Given the description of an element on the screen output the (x, y) to click on. 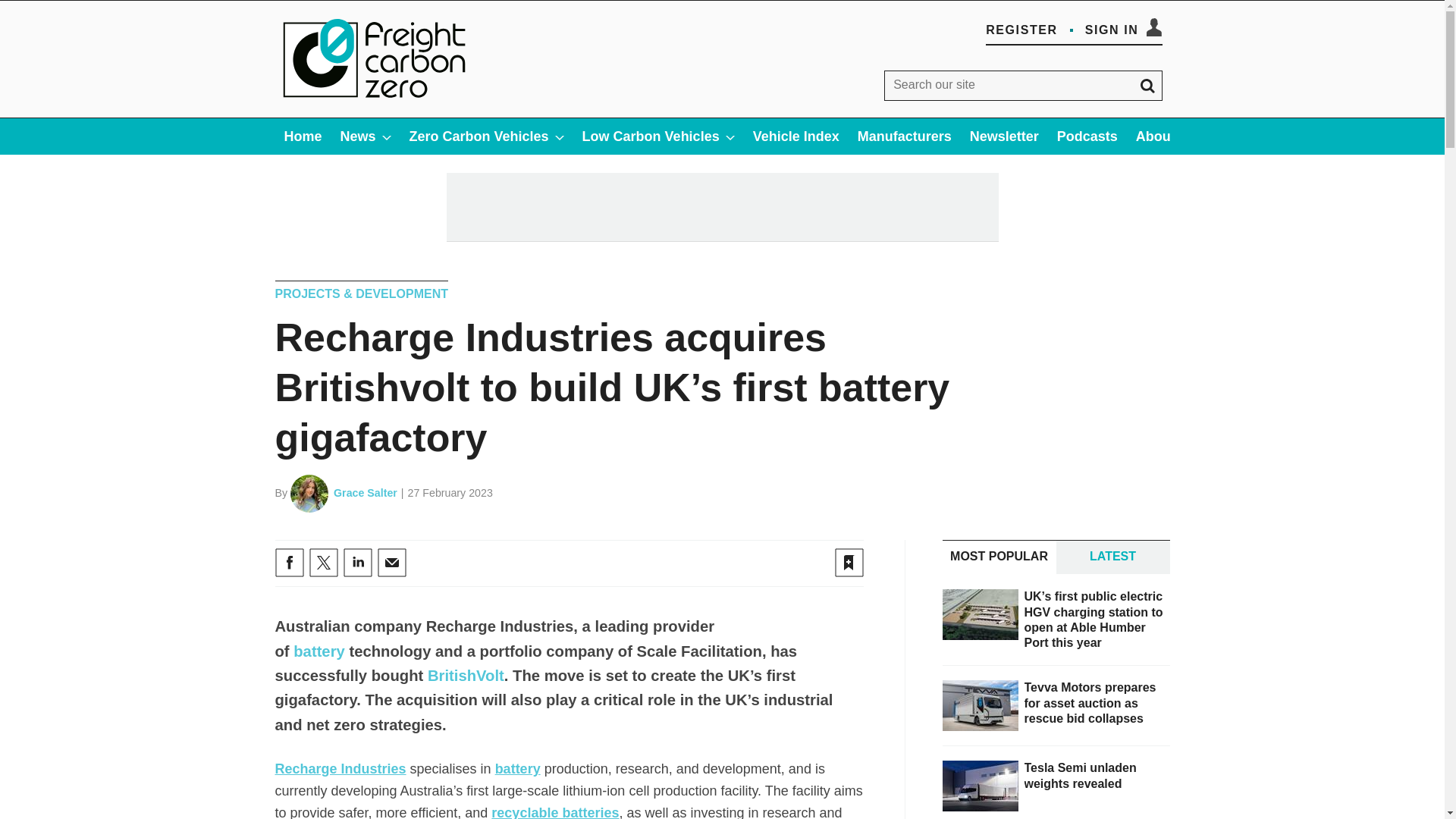
News (365, 135)
Home (302, 135)
SEARCH (1146, 85)
Share this on Facebook (288, 562)
REGISTER (1021, 29)
SIGN IN (1122, 29)
Site name (374, 102)
Share this on Linked in (356, 562)
Share this on Twitter (322, 562)
3rd party ad content (721, 206)
